Given the description of an element on the screen output the (x, y) to click on. 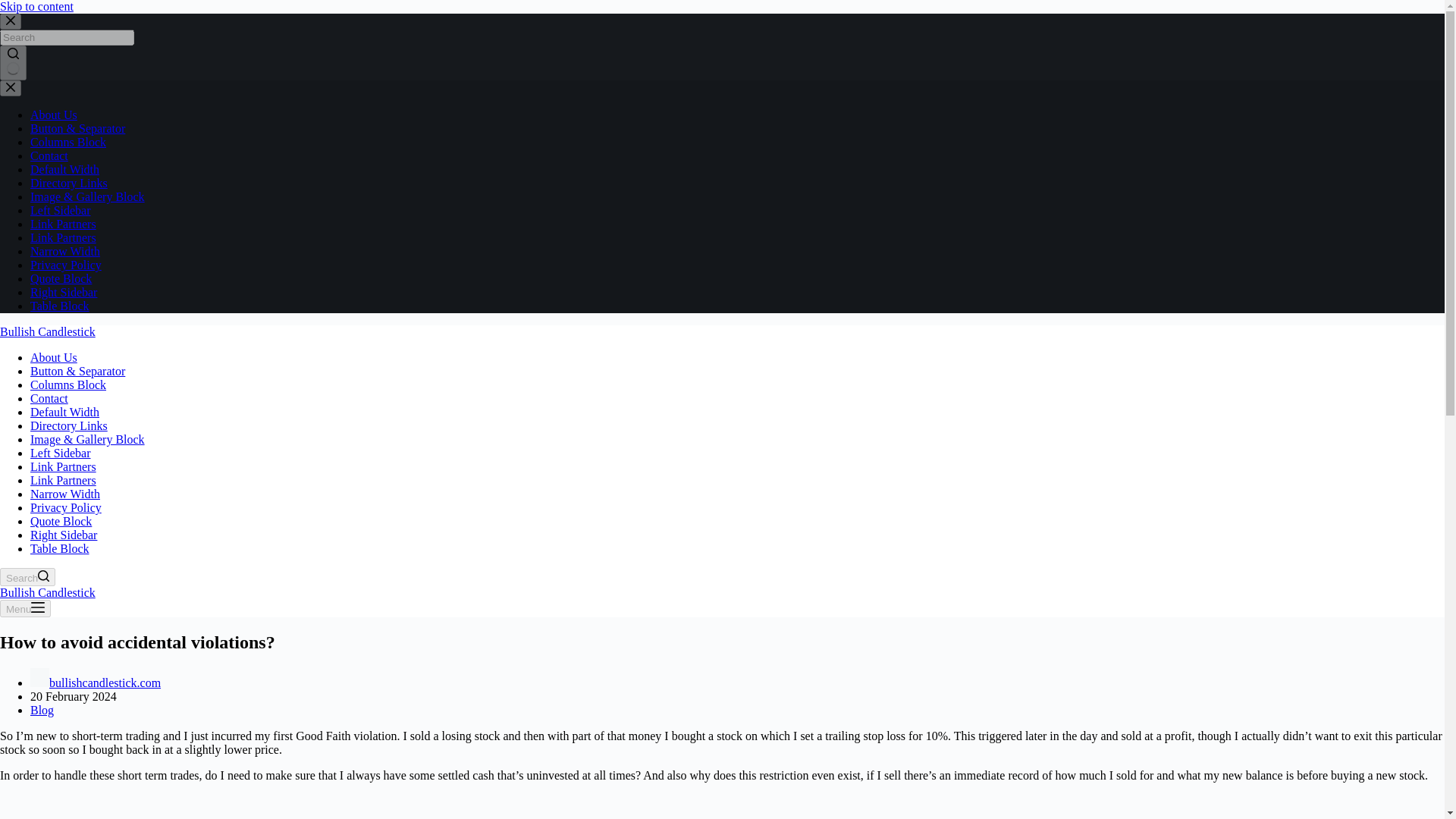
Link Partners (63, 223)
Link Partners (63, 237)
Link Partners (63, 480)
Table Block (59, 548)
Bullish Candlestick (48, 592)
Default Width (64, 411)
Contact (49, 398)
Right Sidebar (63, 291)
Menu (25, 608)
Right Sidebar (63, 534)
Columns Block (68, 384)
Default Width (64, 169)
Directory Links (68, 425)
Contact (49, 155)
Posts by bullishcandlestick.com (104, 682)
